Given the description of an element on the screen output the (x, y) to click on. 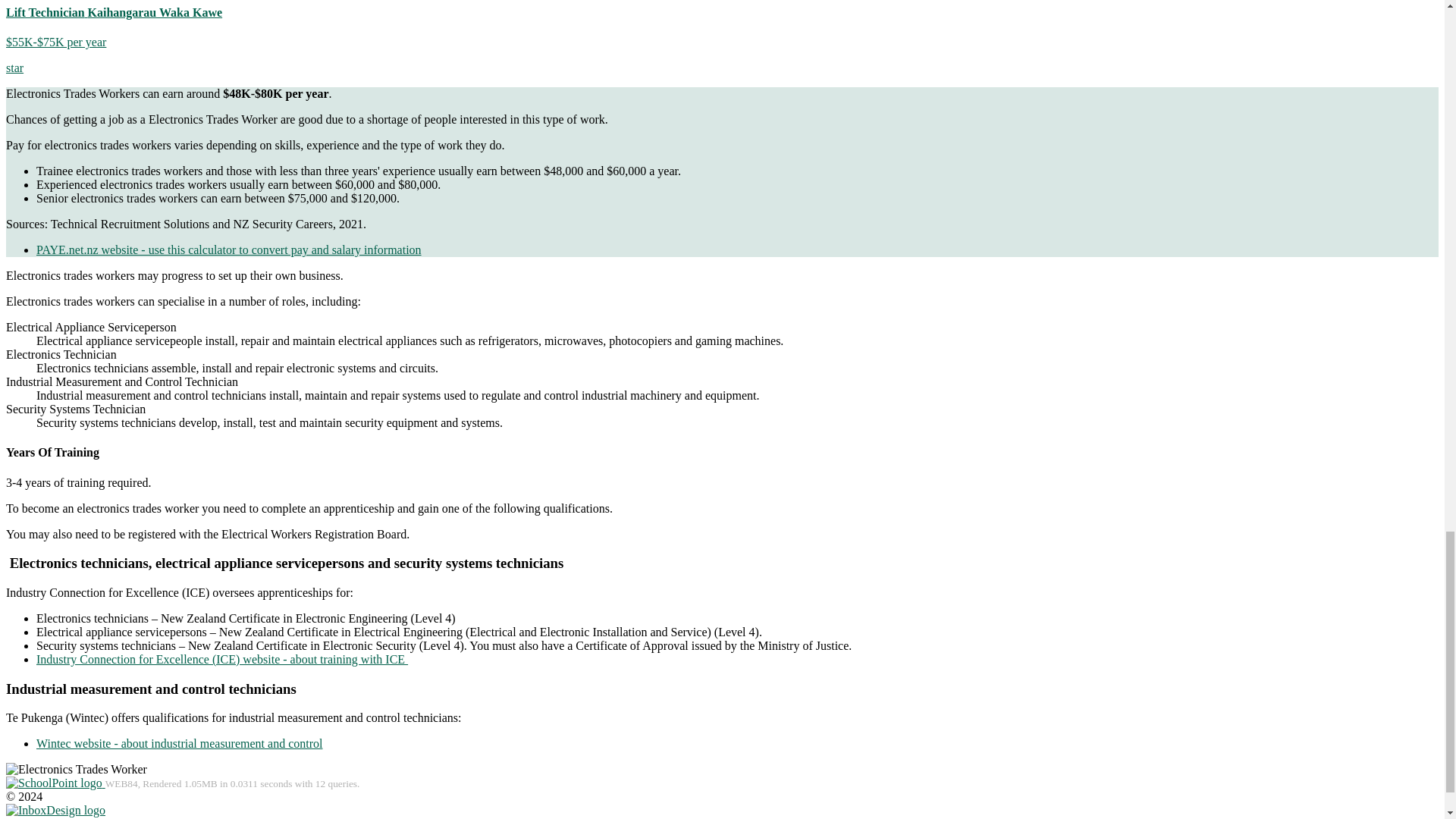
star (14, 67)
Wintec website - about industrial measurement and control (178, 743)
